Given the description of an element on the screen output the (x, y) to click on. 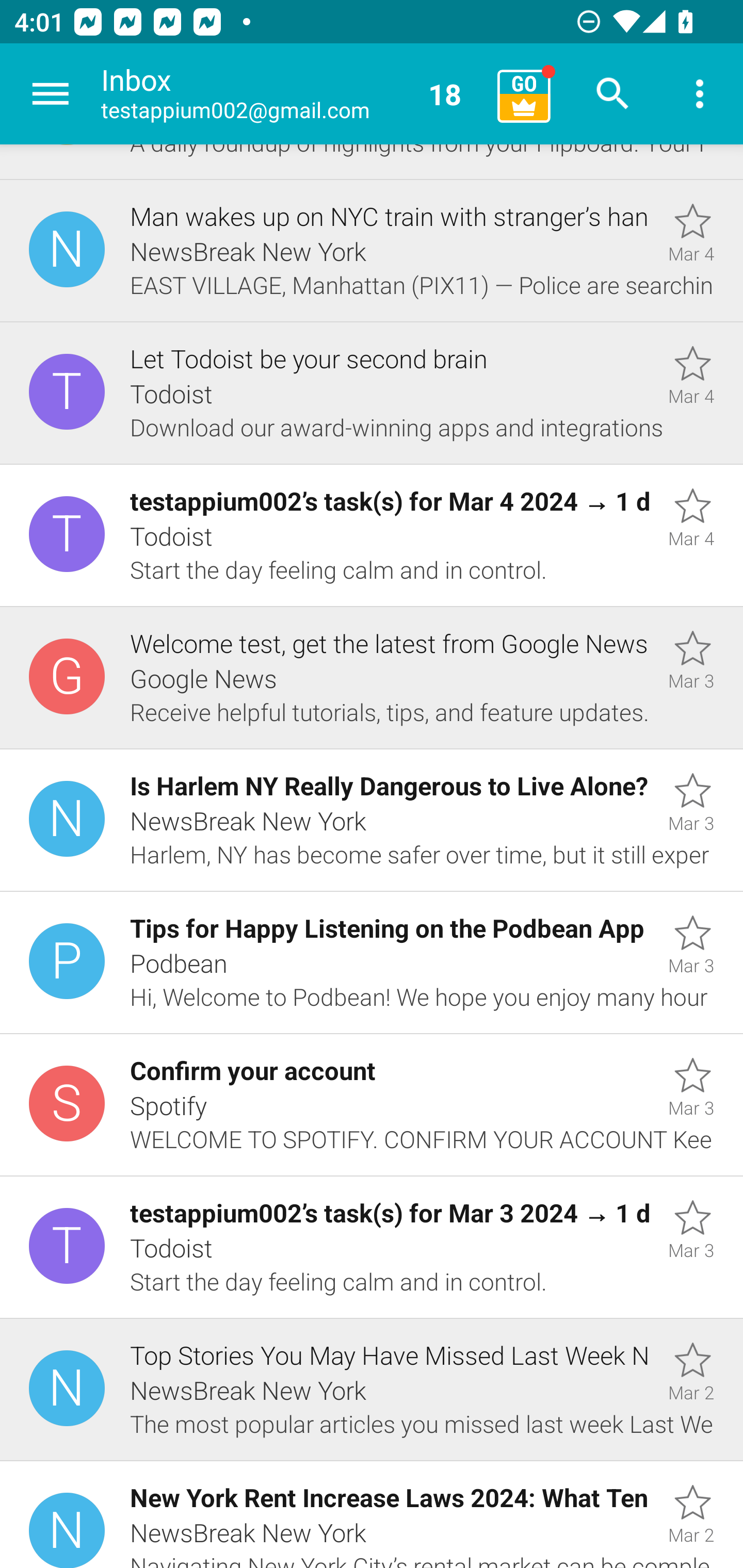
Navigate up (50, 93)
Inbox testappium002@gmail.com 18 (291, 93)
Search (612, 93)
More options (699, 93)
